Given the description of an element on the screen output the (x, y) to click on. 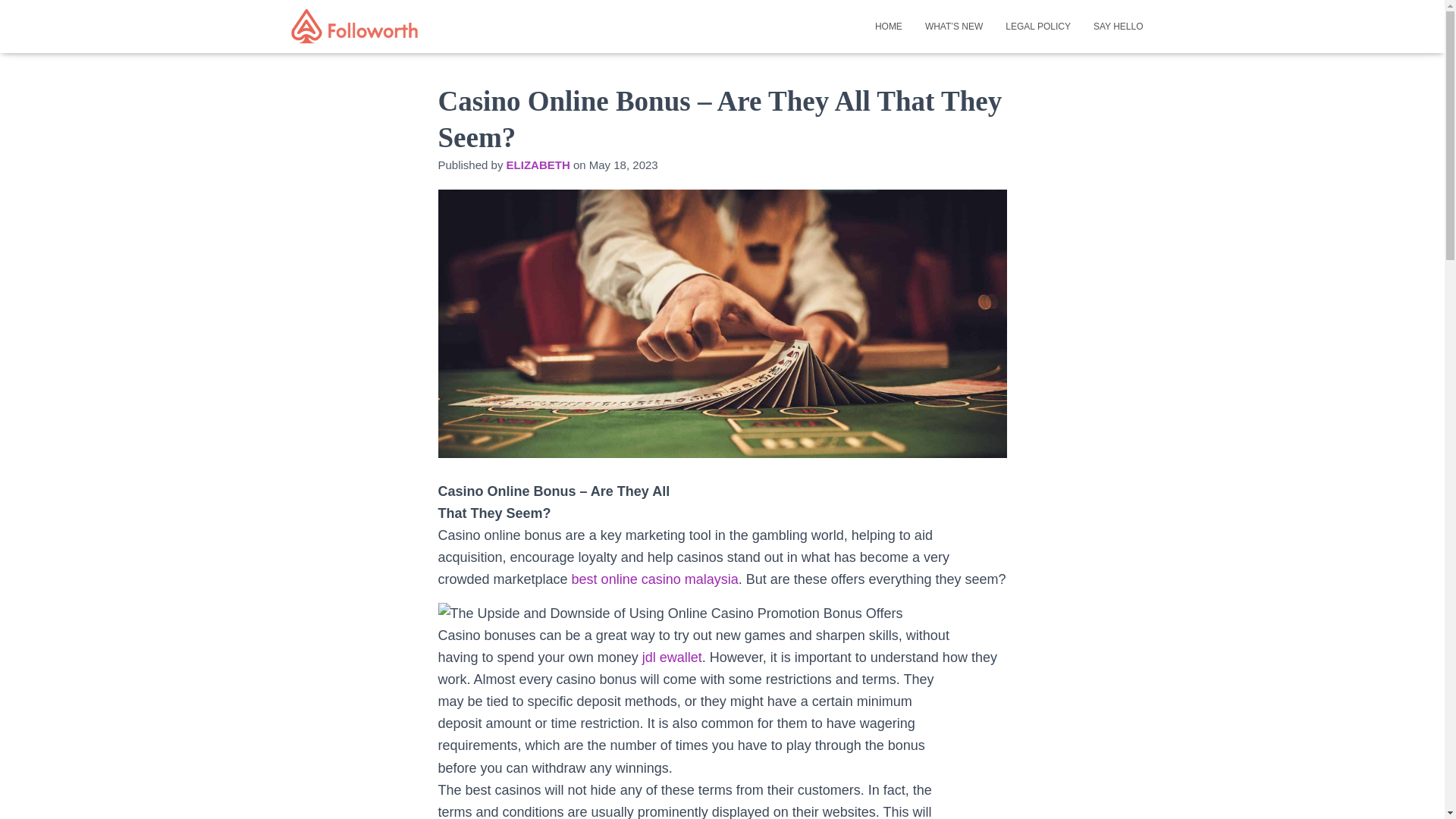
SAY HELLO (1117, 26)
jdl ewallet (671, 657)
Followorth (354, 26)
best online casino malaysia (655, 579)
HOME (888, 26)
Home (888, 26)
ELIZABETH (538, 164)
Legal Policy (1037, 26)
Say Hello (1117, 26)
LEGAL POLICY (1037, 26)
